Given the description of an element on the screen output the (x, y) to click on. 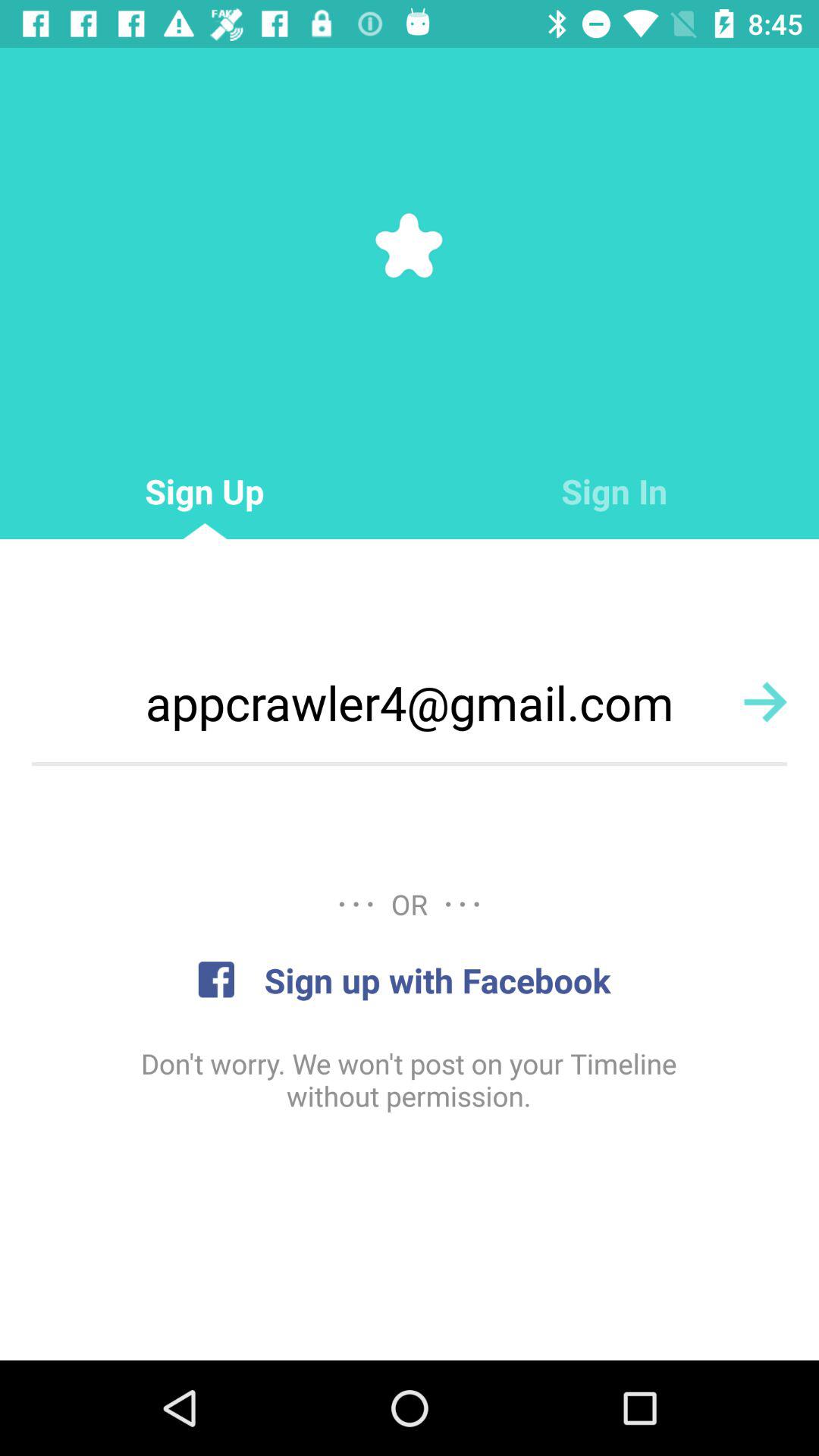
flip to sign in item (614, 491)
